Given the description of an element on the screen output the (x, y) to click on. 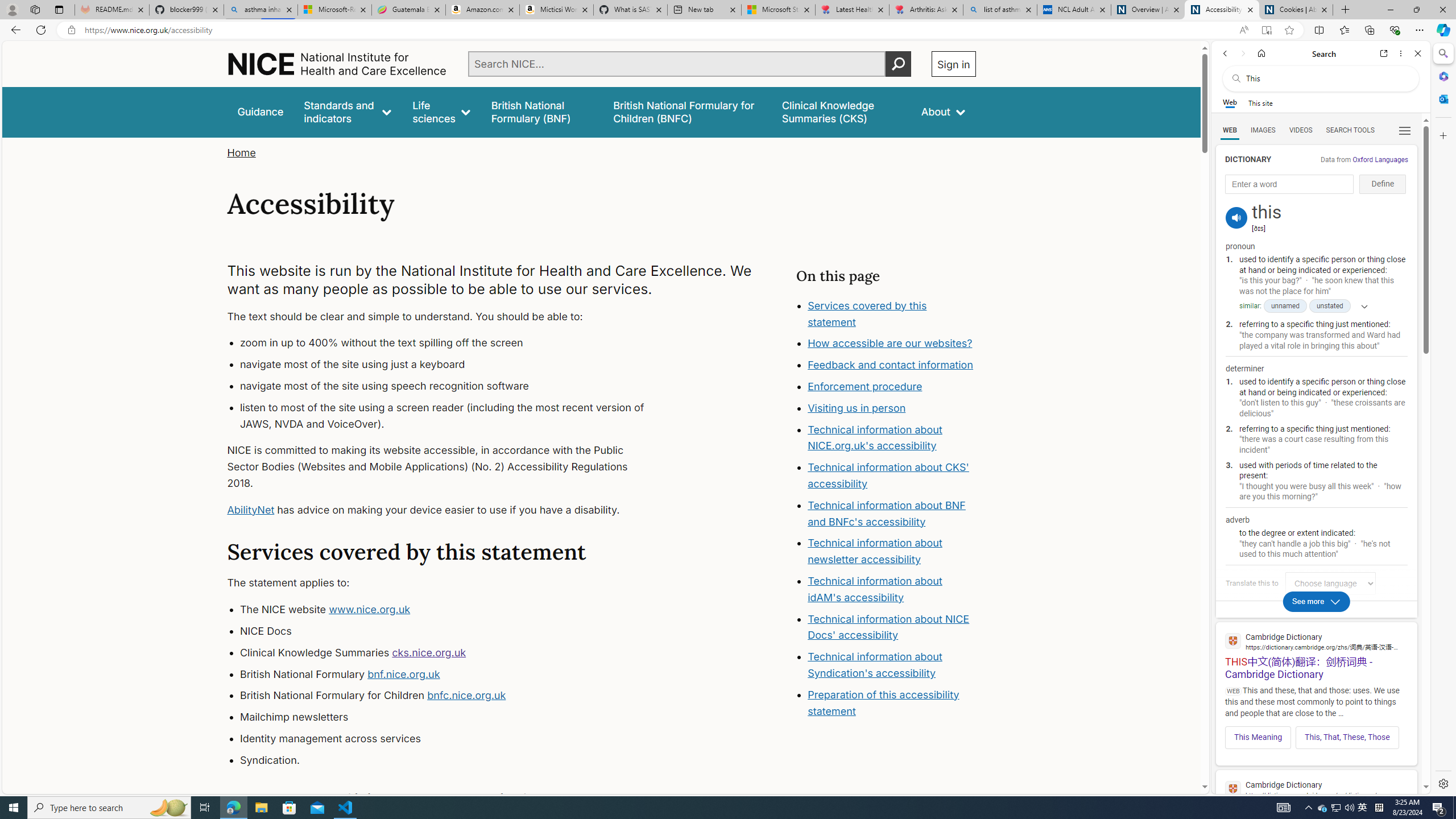
Feedback and contact information (891, 364)
This, That, These, Those (1347, 737)
British National Formulary for Children (BNFC) (686, 111)
www.nice.org.uk (369, 609)
How accessible are our websites? (890, 343)
